Given the description of an element on the screen output the (x, y) to click on. 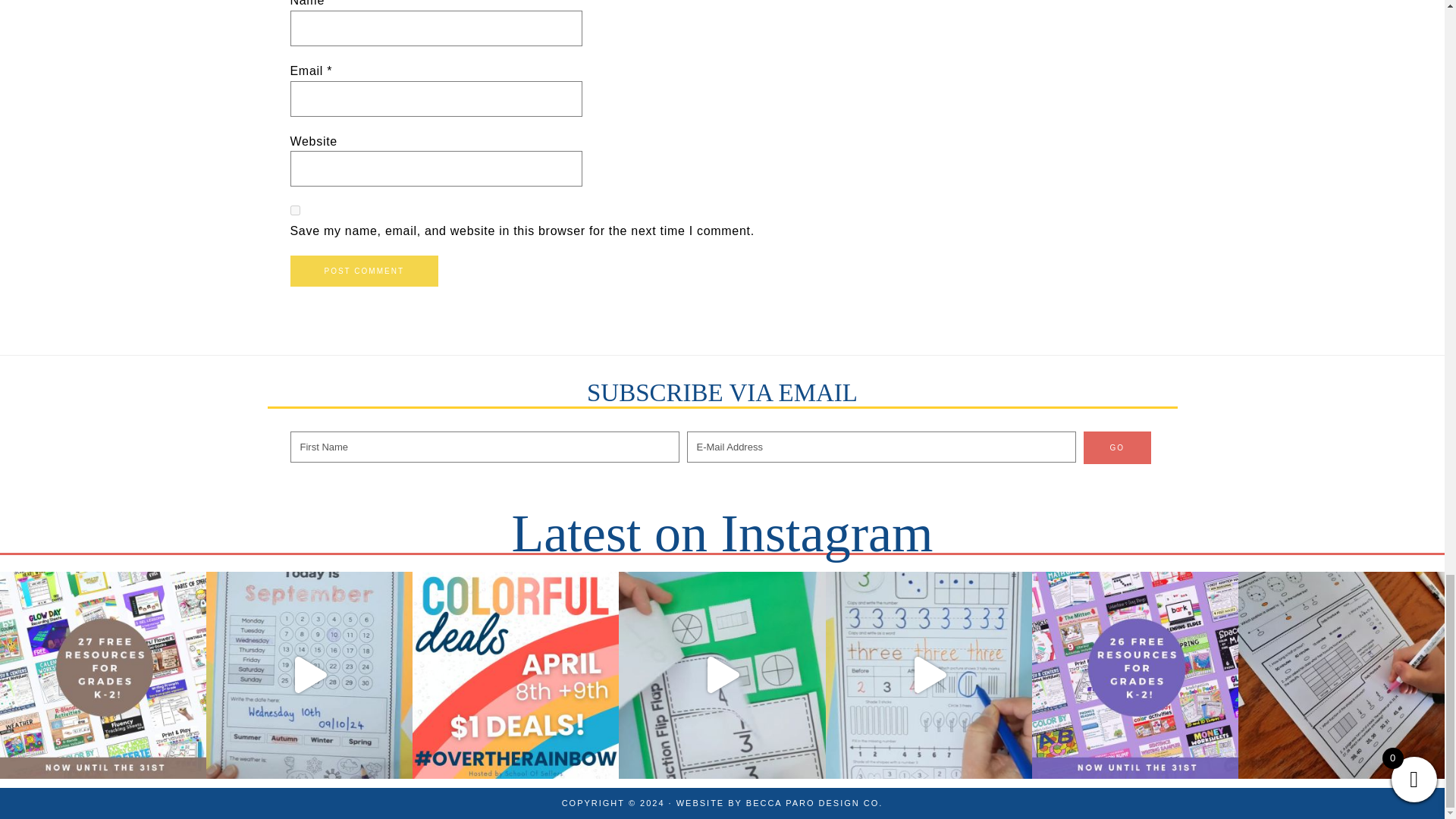
yes (294, 210)
Go (1117, 447)
Go (1117, 447)
Post Comment (363, 270)
Post Comment (363, 270)
